Given the description of an element on the screen output the (x, y) to click on. 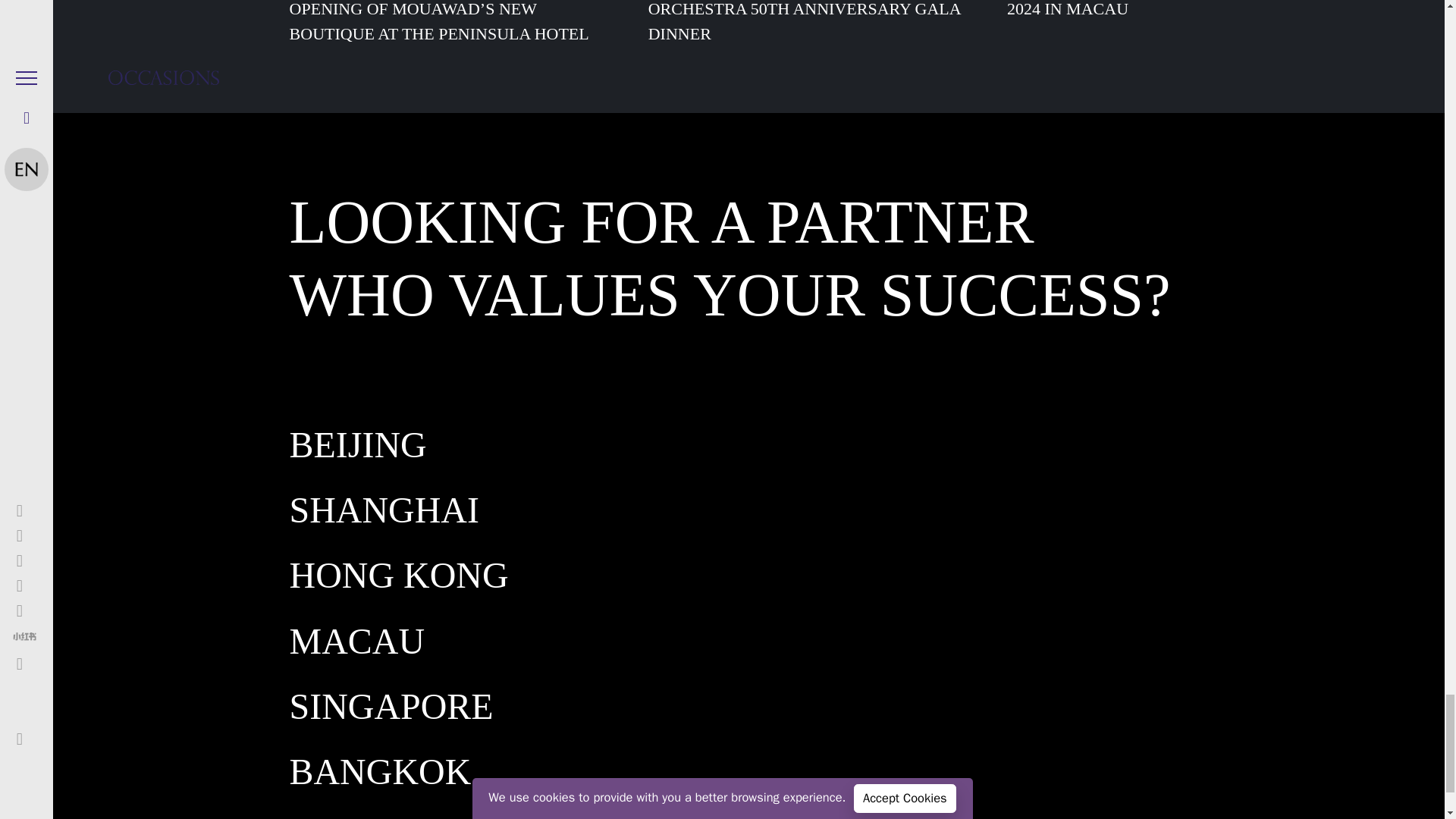
BEIJING (357, 444)
SHANGHAI (384, 509)
MACAU (357, 641)
HONG KONG (398, 575)
